Given the description of an element on the screen output the (x, y) to click on. 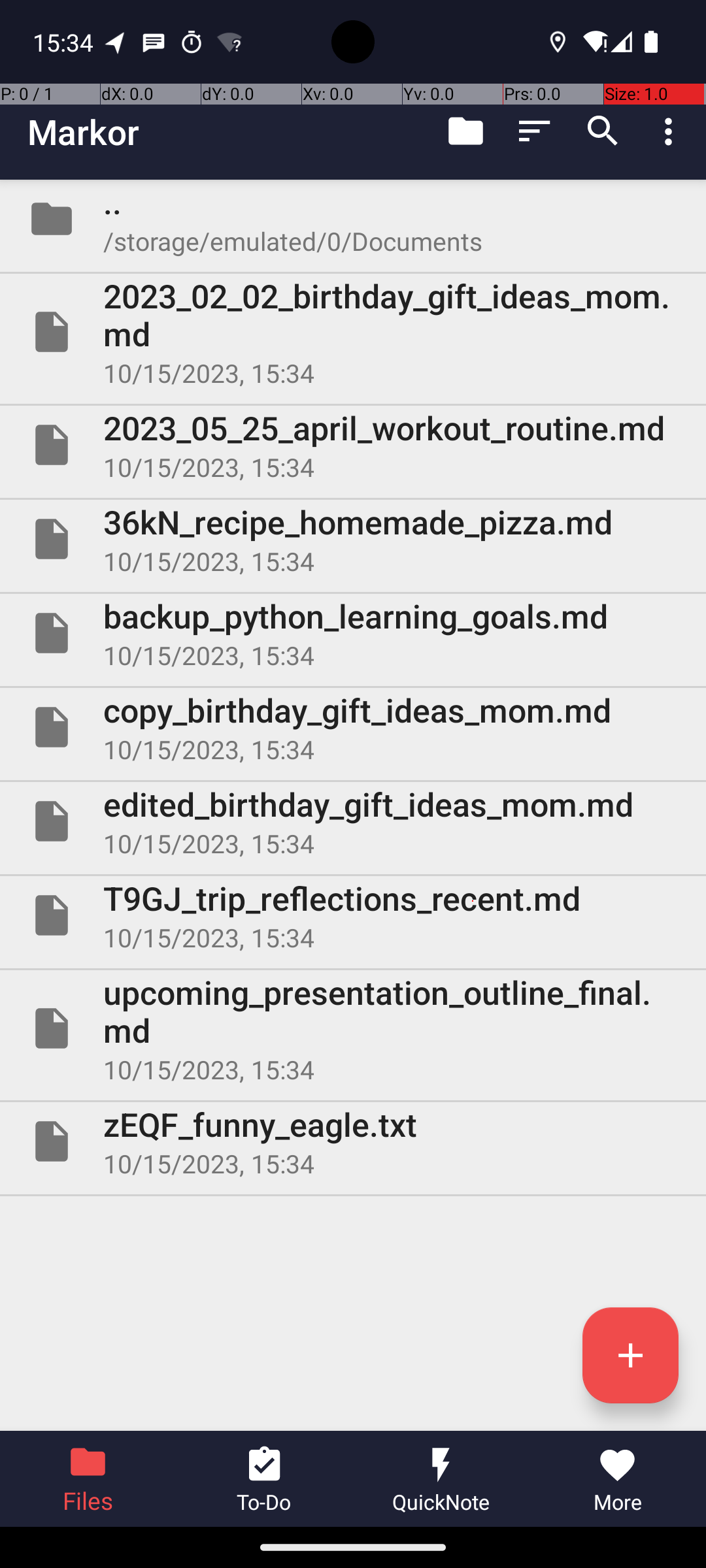
File 2023_02_02_birthday_gift_ideas_mom.md  Element type: android.widget.LinearLayout (353, 331)
File 2023_05_25_april_workout_routine.md  Element type: android.widget.LinearLayout (353, 444)
File 36kN_recipe_homemade_pizza.md  Element type: android.widget.LinearLayout (353, 538)
File backup_python_learning_goals.md  Element type: android.widget.LinearLayout (353, 632)
File copy_birthday_gift_ideas_mom.md  Element type: android.widget.LinearLayout (353, 726)
File edited_birthday_gift_ideas_mom.md  Element type: android.widget.LinearLayout (353, 821)
File T9GJ_trip_reflections_recent.md  Element type: android.widget.LinearLayout (353, 915)
File upcoming_presentation_outline_final.md  Element type: android.widget.LinearLayout (353, 1028)
File zEQF_funny_eagle.txt  Element type: android.widget.LinearLayout (353, 1141)
